Given the description of an element on the screen output the (x, y) to click on. 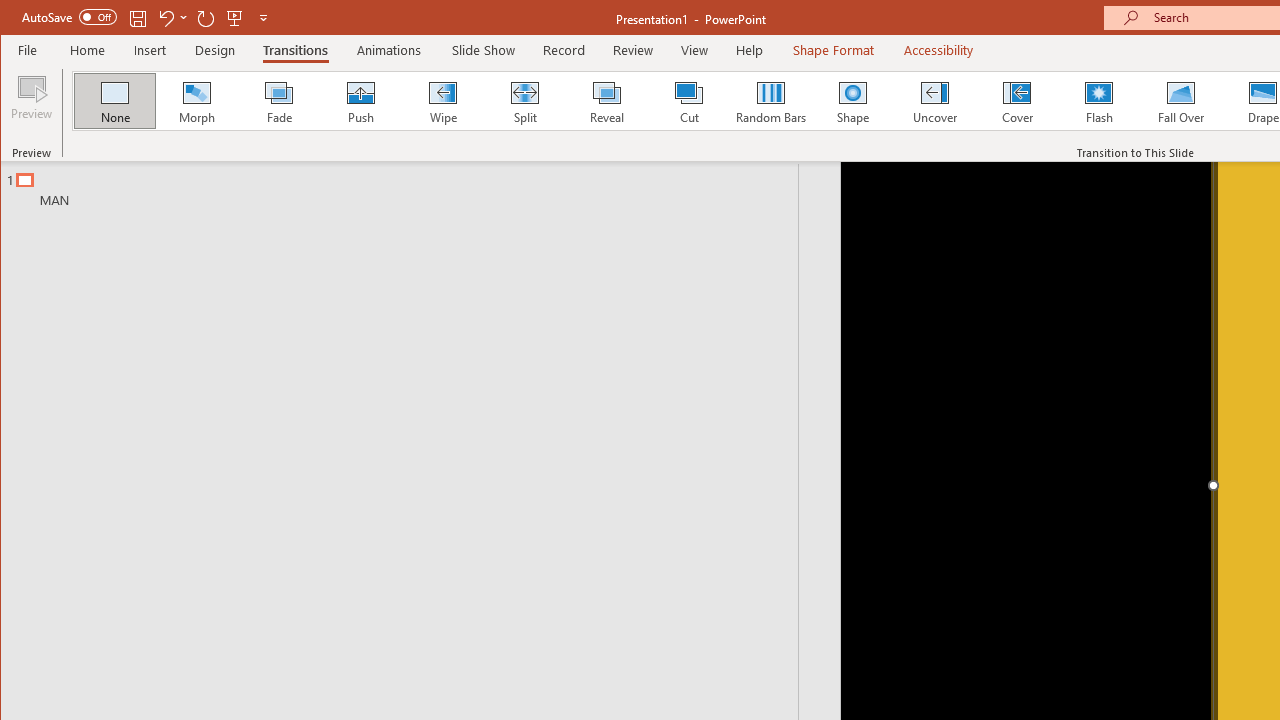
File Tab (28, 49)
Random Bars (770, 100)
Fade (279, 100)
Morph (197, 100)
Shape Format (833, 50)
Flash (1099, 100)
Cut (688, 100)
Preview (31, 104)
AutoSave (68, 16)
System (18, 18)
None (115, 100)
Help (749, 50)
Transitions (294, 50)
Save (138, 17)
Shape (852, 100)
